Given the description of an element on the screen output the (x, y) to click on. 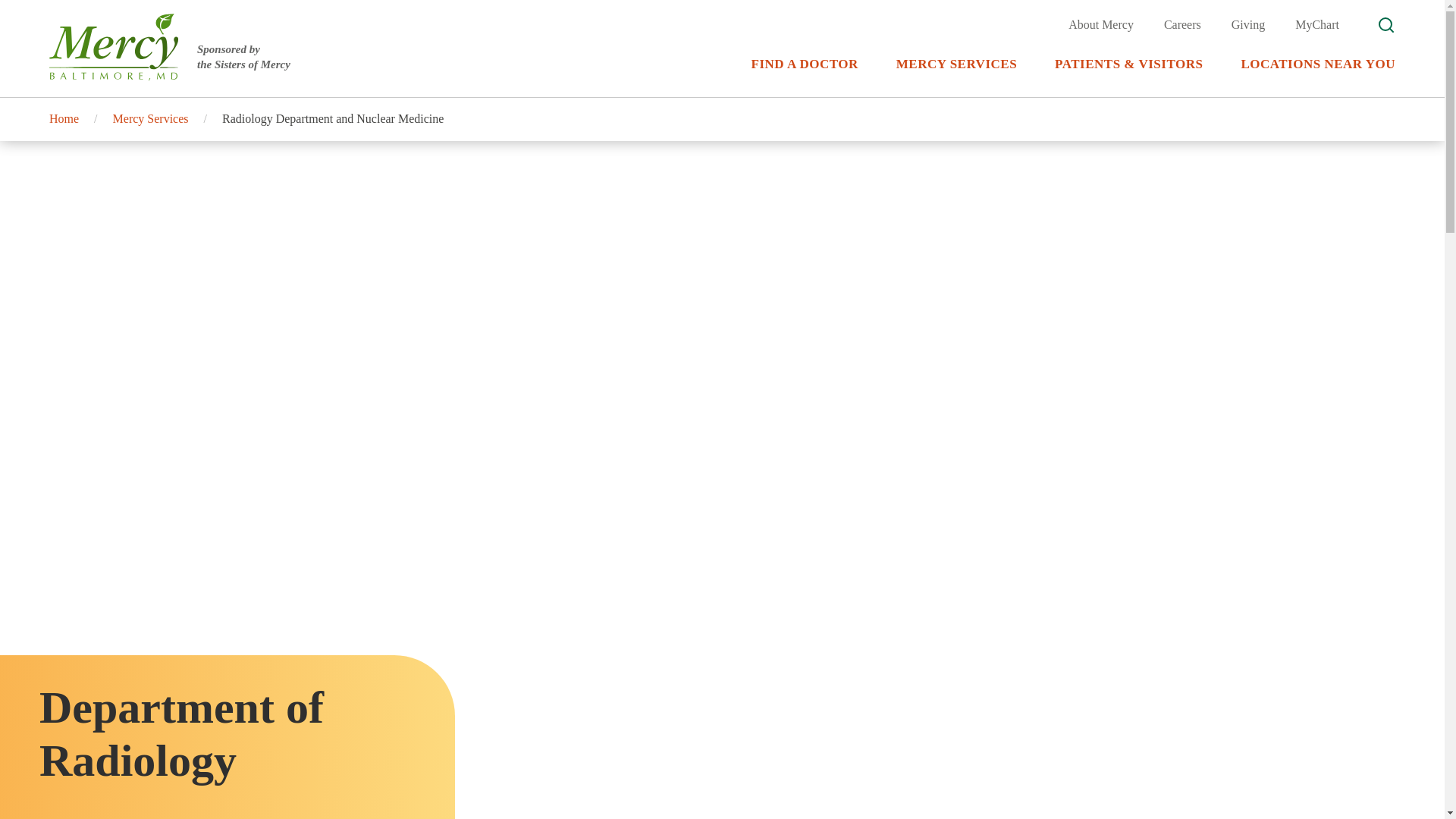
FIND A DOCTOR (805, 75)
Giving (1248, 25)
LOCATIONS NEAR YOU (1317, 75)
Mercy Services (151, 118)
About Mercy (1101, 25)
Careers (1182, 25)
Home (169, 47)
MyChart (63, 118)
MERCY SERVICES (1317, 25)
